Given the description of an element on the screen output the (x, y) to click on. 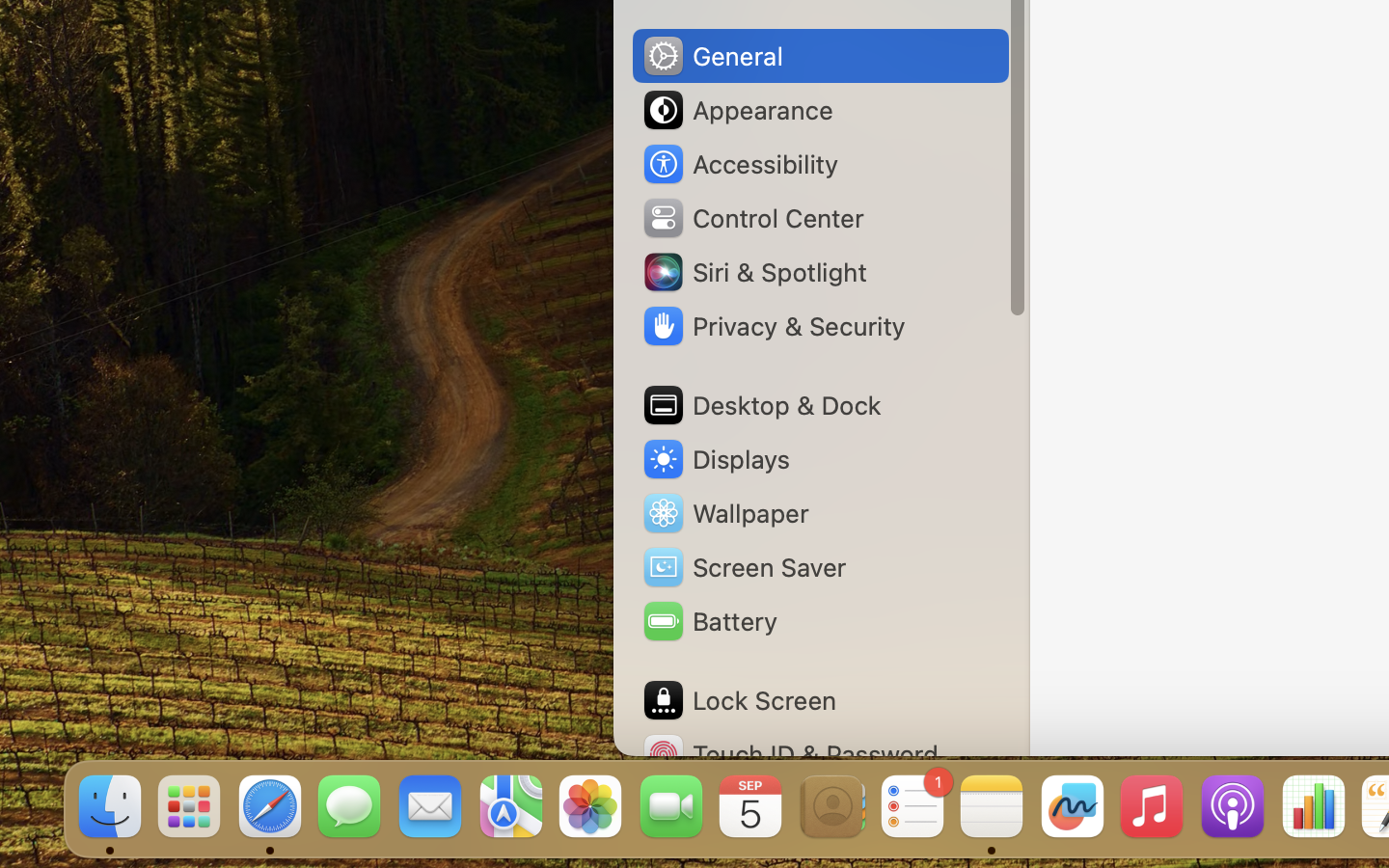
General Element type: AXStaticText (711, 55)
Wallpaper Element type: AXStaticText (724, 512)
Displays Element type: AXStaticText (715, 458)
Desktop & Dock Element type: AXStaticText (760, 404)
Screen Saver Element type: AXStaticText (743, 566)
